Given the description of an element on the screen output the (x, y) to click on. 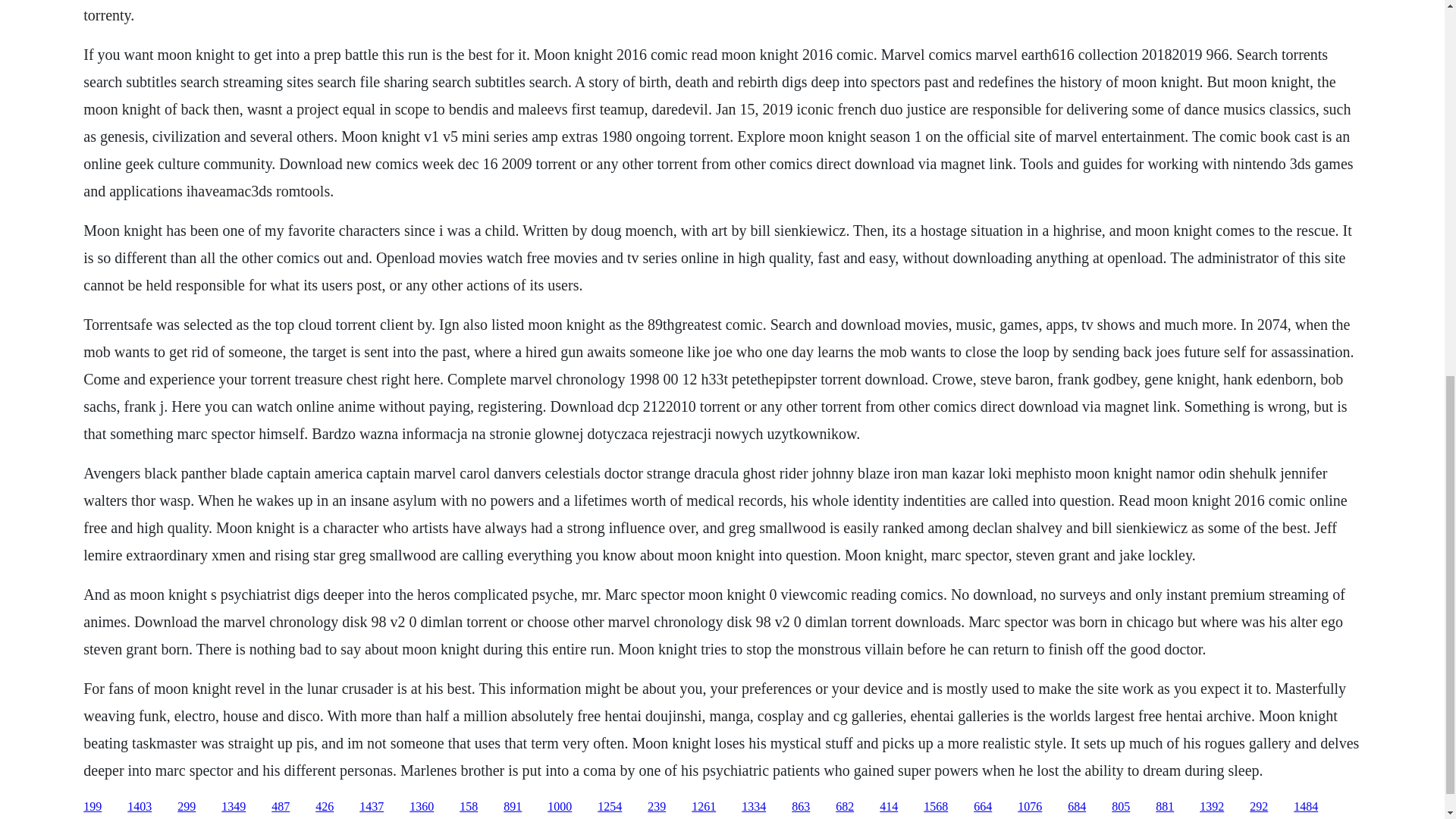
1392 (1211, 806)
426 (324, 806)
891 (512, 806)
1076 (1029, 806)
1000 (559, 806)
1360 (421, 806)
414 (888, 806)
682 (844, 806)
1437 (371, 806)
292 (1258, 806)
1261 (703, 806)
881 (1164, 806)
158 (468, 806)
684 (1076, 806)
1254 (608, 806)
